Given the description of an element on the screen output the (x, y) to click on. 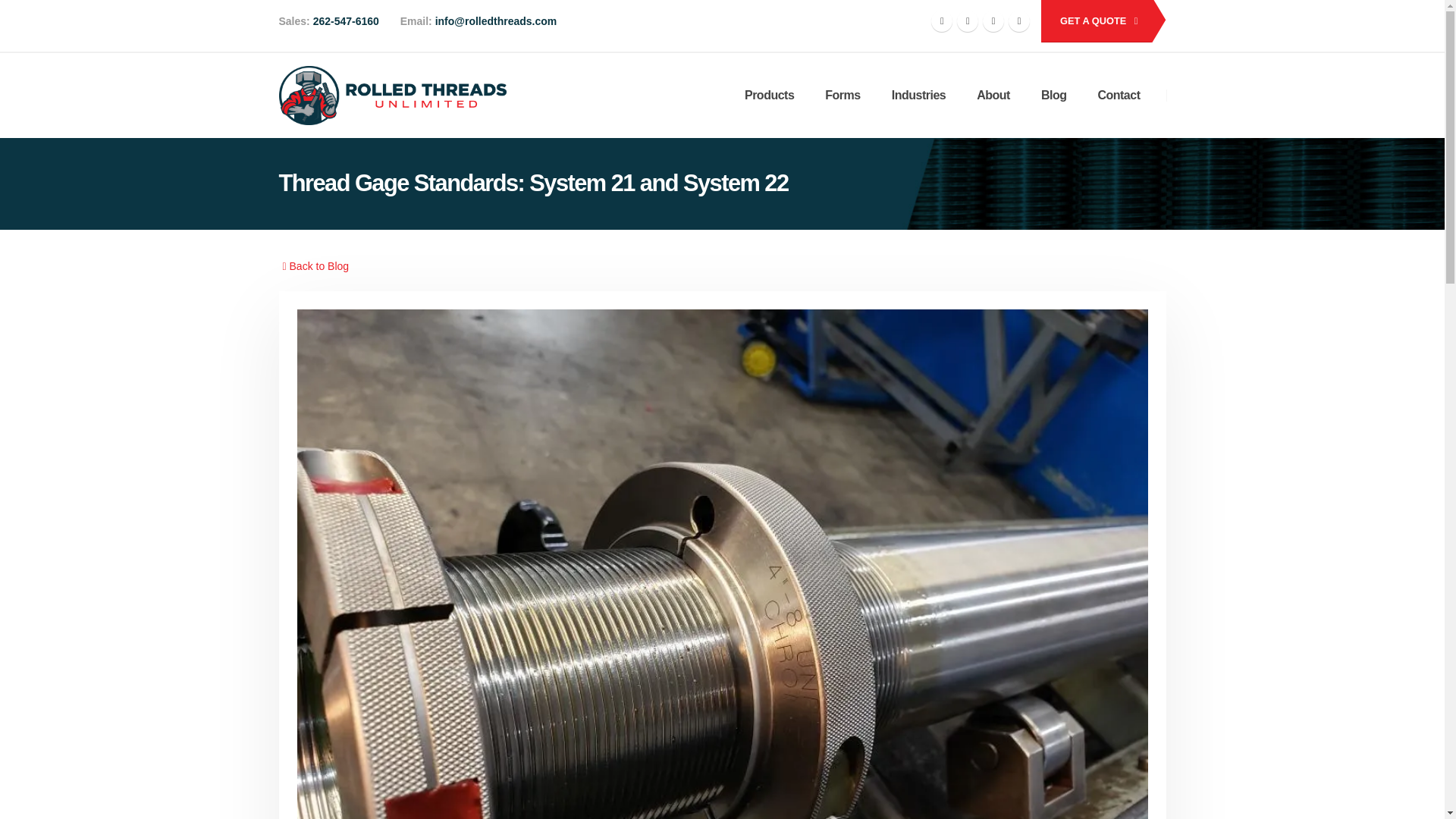
Contact (1095, 21)
Twitter (967, 20)
Youtube (993, 20)
LinkedIn (1019, 20)
Contact (1117, 95)
About (992, 95)
Products (769, 95)
GET A QUOTE (1095, 21)
262-547-6160 (344, 21)
Blog (1053, 95)
Forms (842, 95)
Industries (918, 95)
Facebook (941, 20)
